Given the description of an element on the screen output the (x, y) to click on. 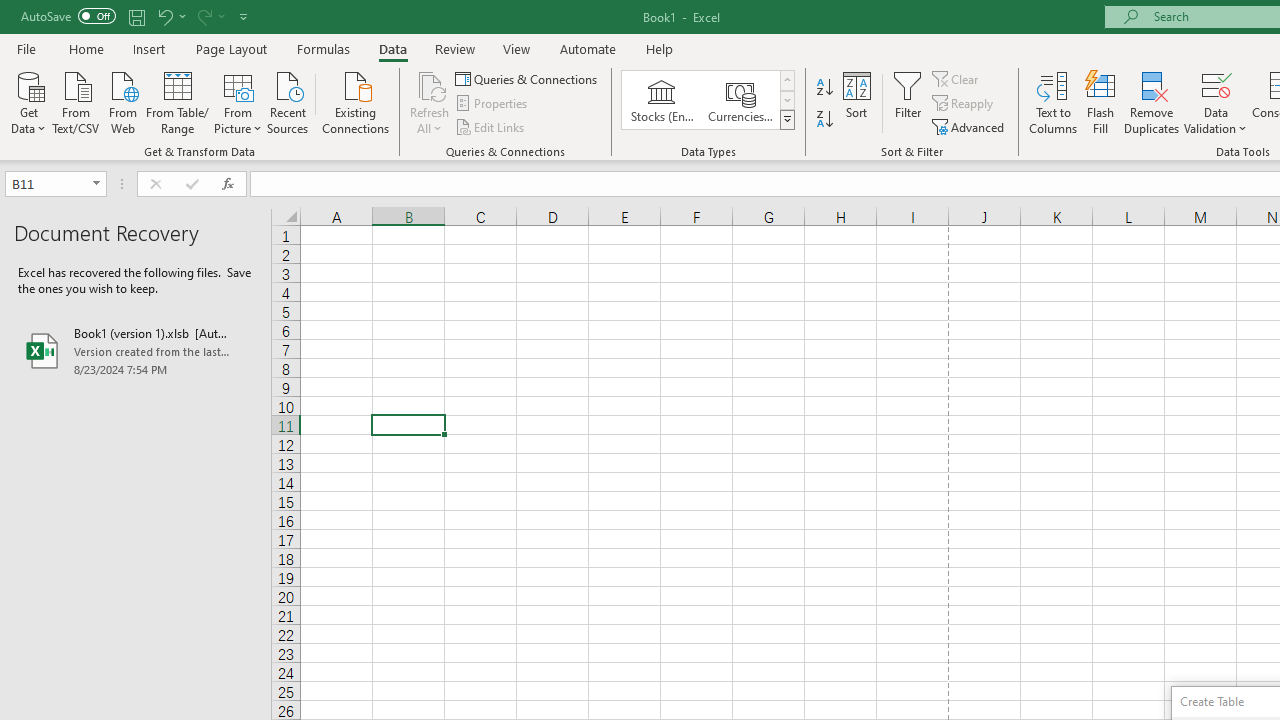
Properties (492, 103)
Queries & Connections (527, 78)
Clear (957, 78)
Remove Duplicates (1151, 102)
Filter (908, 102)
Class: NetUIImage (787, 119)
From Picture (238, 101)
